Given the description of an element on the screen output the (x, y) to click on. 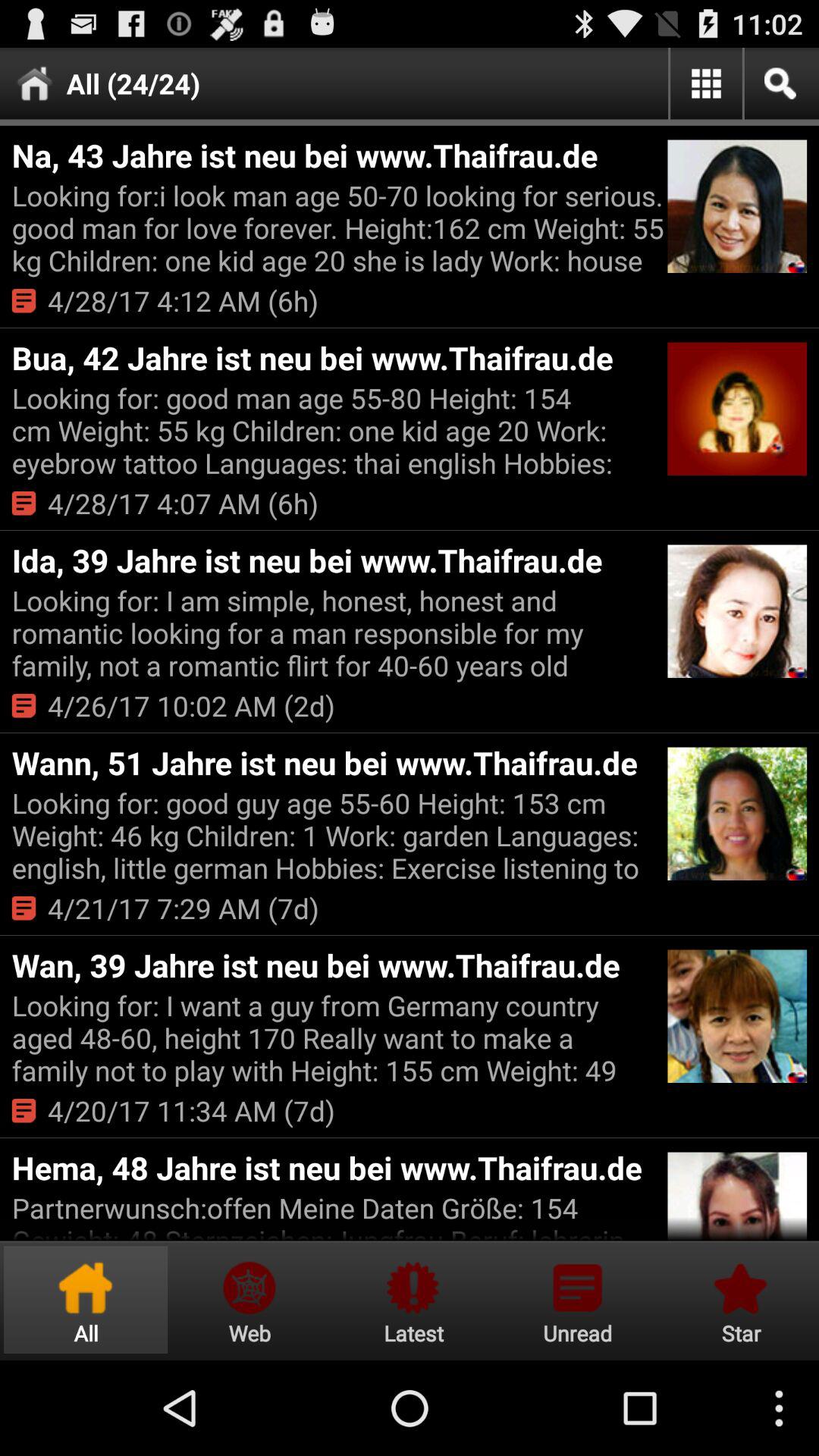
choose icon below partnerwunsch offen meine item (85, 1299)
